Given the description of an element on the screen output the (x, y) to click on. 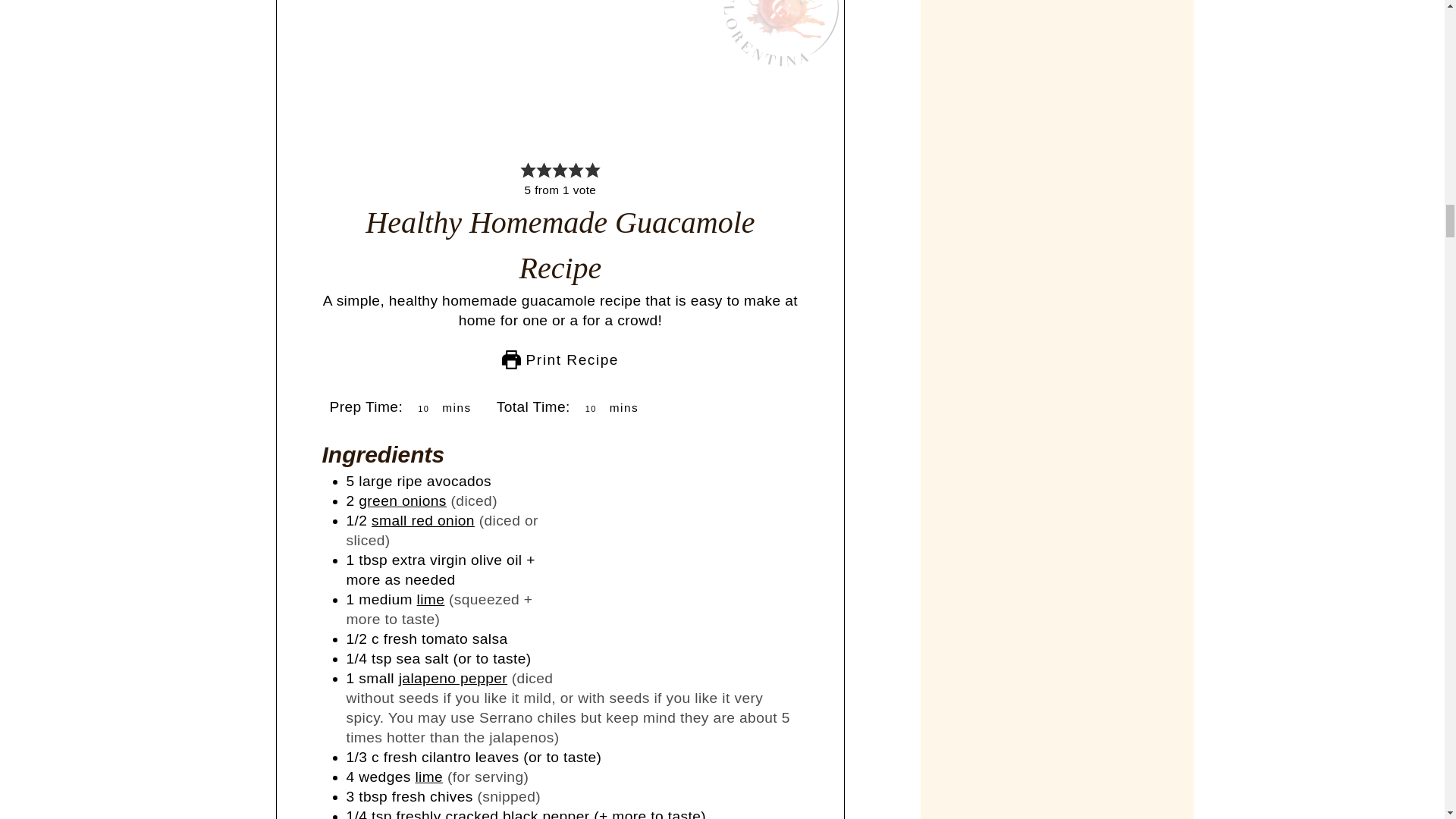
Print Recipe (560, 359)
lime (430, 599)
green onions (402, 500)
small red onion (422, 520)
jalapeno pepper (452, 678)
lime (428, 776)
